Given the description of an element on the screen output the (x, y) to click on. 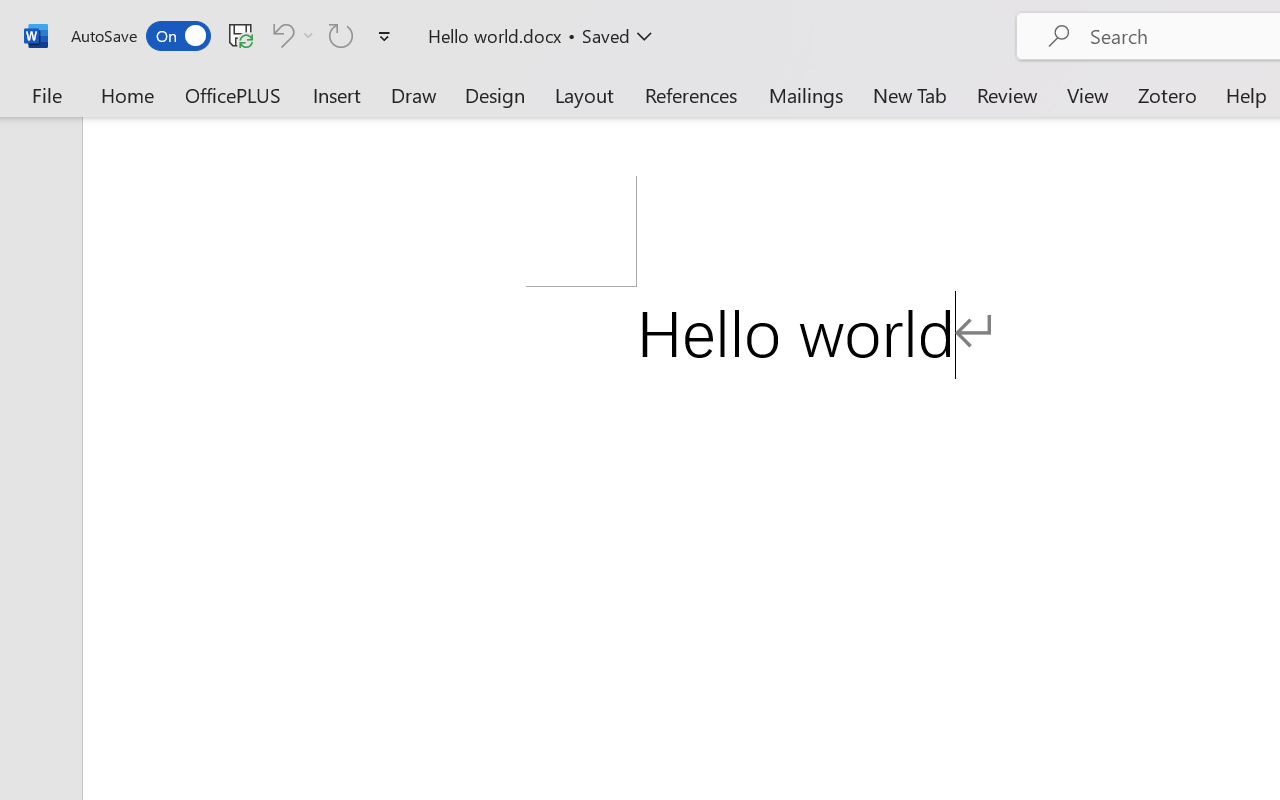
Quick Access Toolbar (233, 36)
Draw (413, 94)
New Tab (909, 94)
References (690, 94)
Can't Undo (290, 35)
Insert (337, 94)
Can't Repeat (341, 35)
Review (1007, 94)
View (1087, 94)
